Given the description of an element on the screen output the (x, y) to click on. 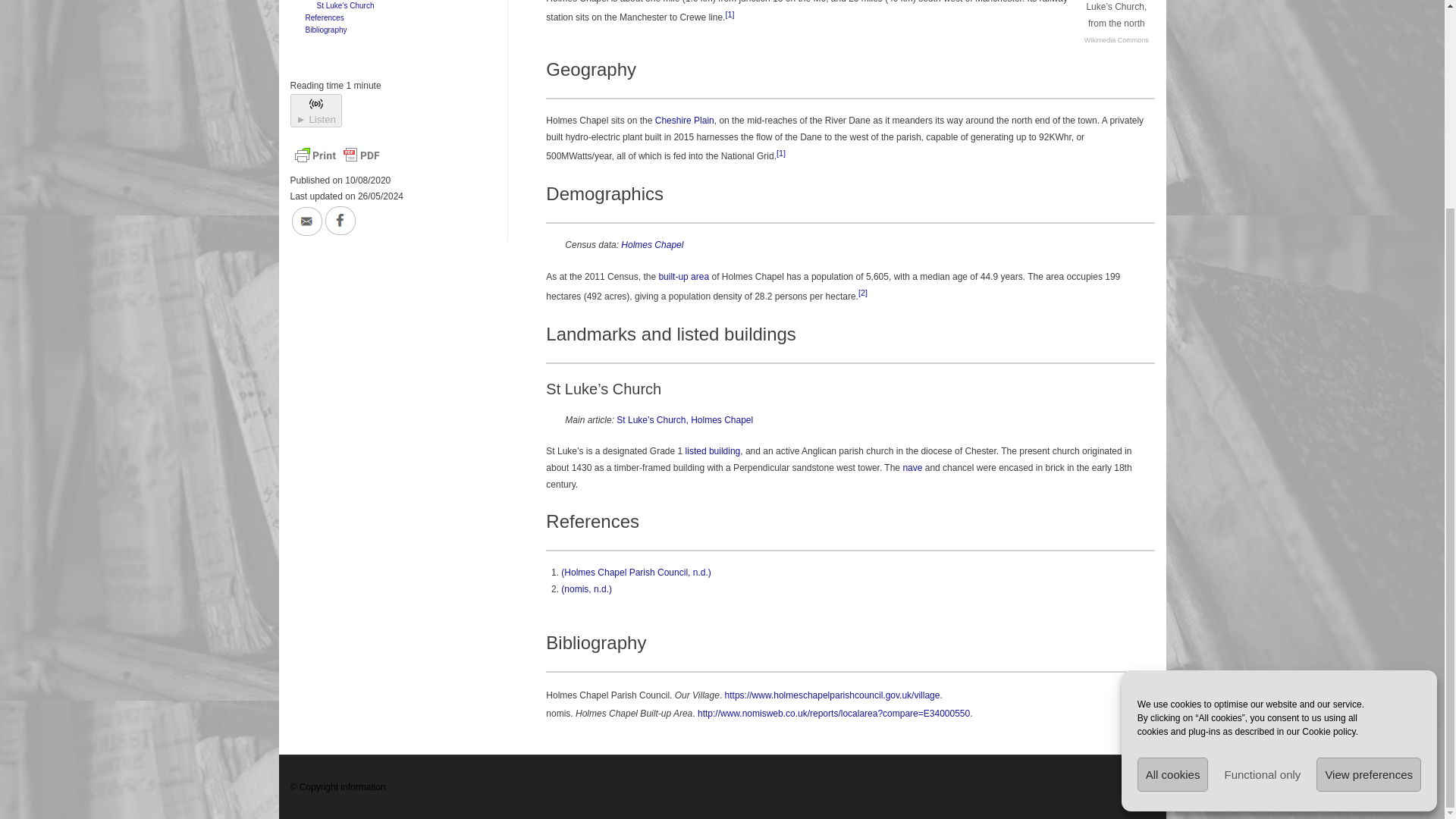
built-up area (683, 276)
listed building (713, 450)
Cookie policy (1328, 461)
nave (911, 467)
References (322, 18)
Functional only (1261, 504)
Cheshire Plain (684, 120)
Holmes Chapel (651, 244)
View preferences (1368, 504)
All cookies (1172, 504)
2011 Census data (651, 244)
